Given the description of an element on the screen output the (x, y) to click on. 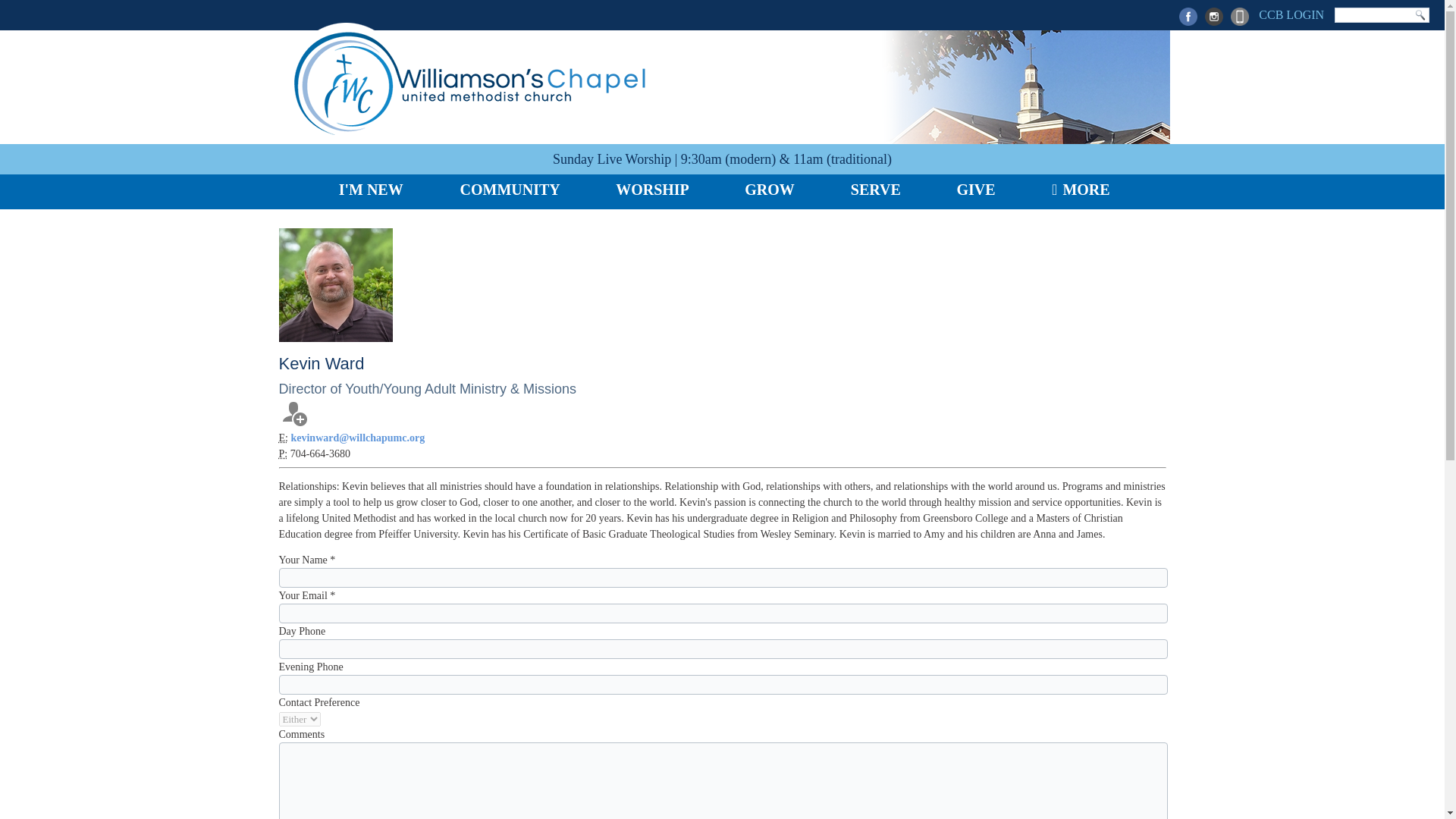
SERVE (873, 191)
COMMUNITY (507, 191)
Sunday Live Worship (612, 159)
GROW (767, 191)
GIVE (973, 191)
Phone (283, 453)
CCB LOGIN (1288, 17)
WORSHIP (649, 191)
I'M NEW (369, 191)
Email (283, 437)
